Given the description of an element on the screen output the (x, y) to click on. 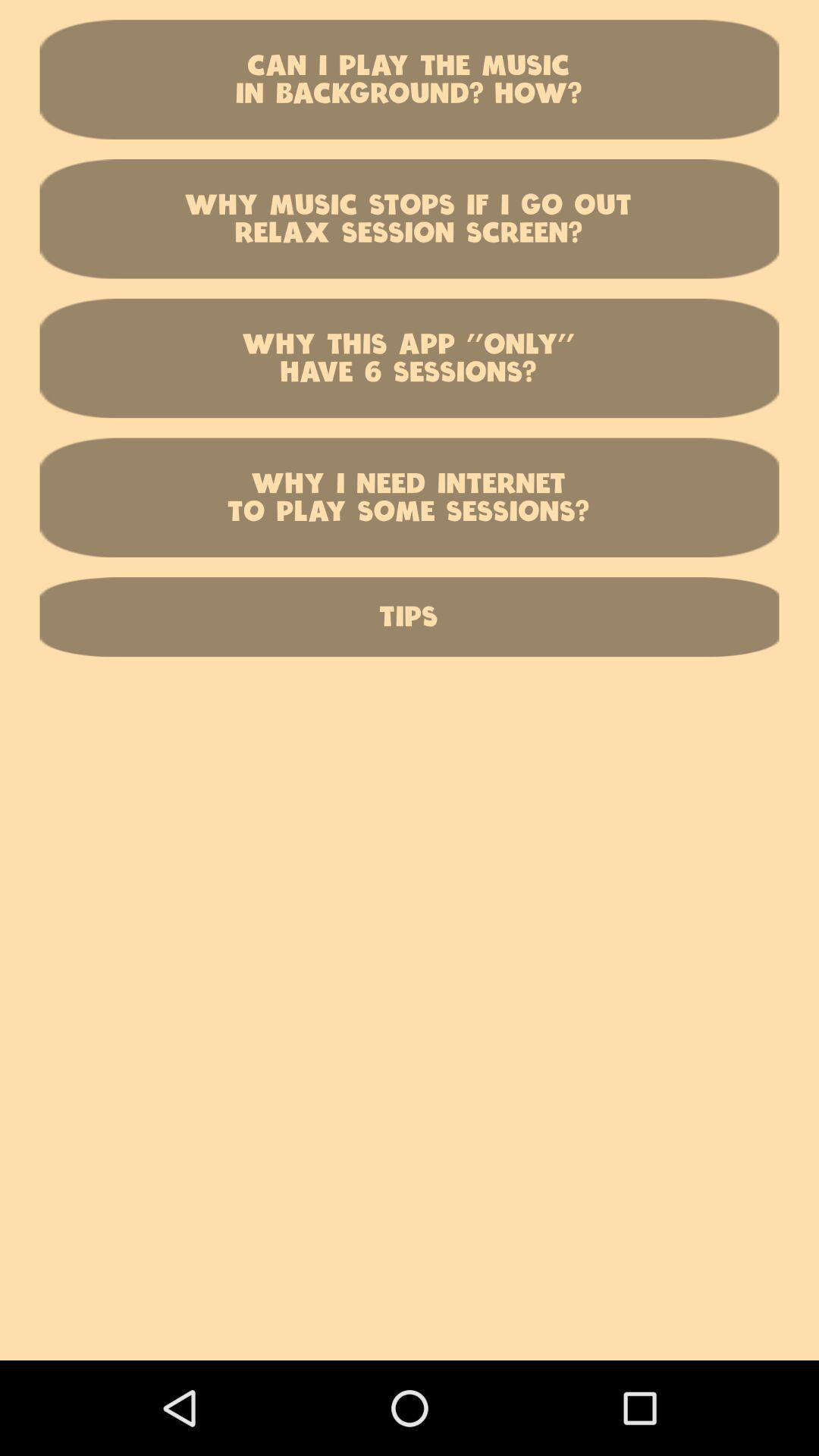
click the tips item (409, 616)
